Given the description of an element on the screen output the (x, y) to click on. 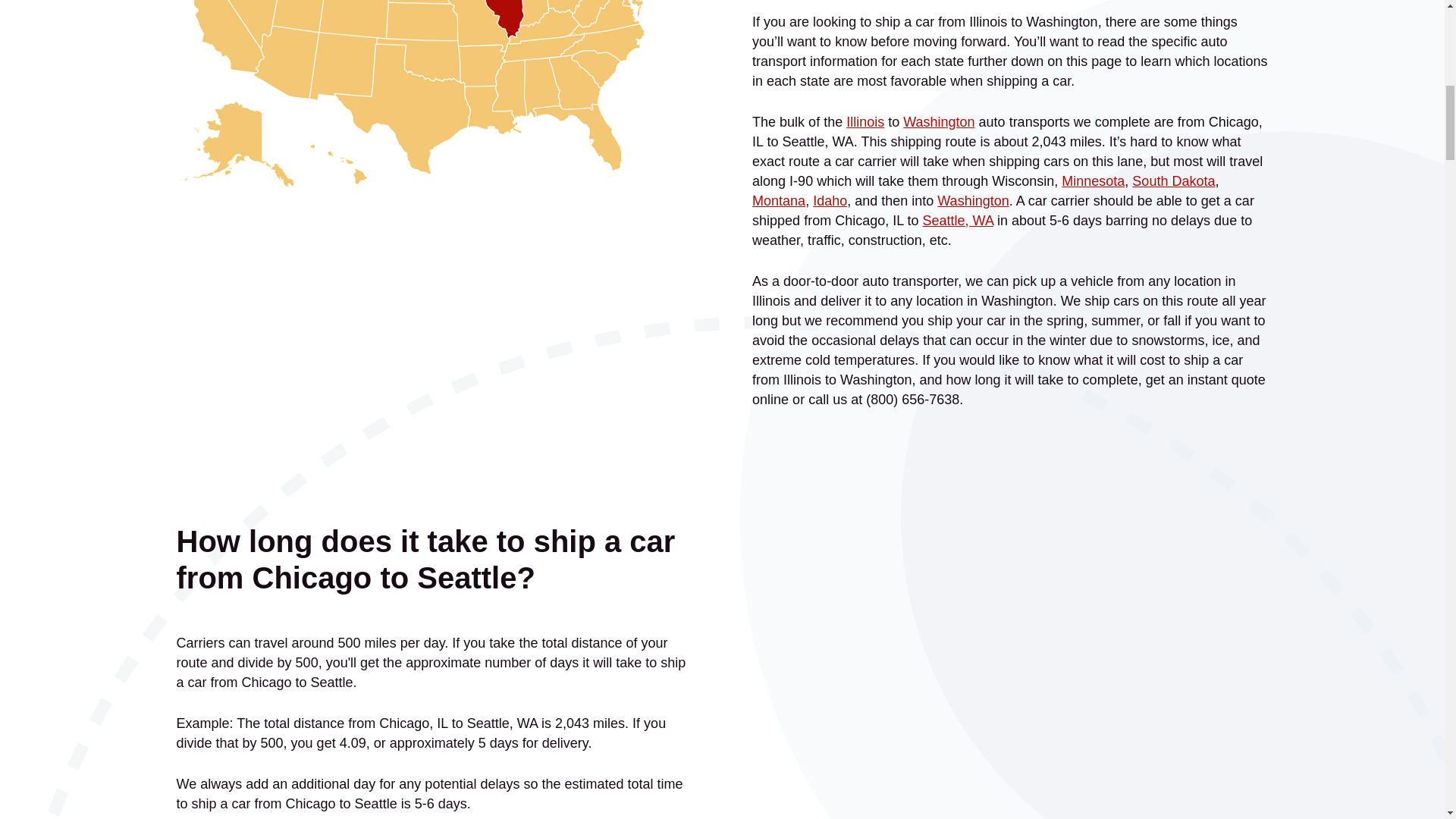
South Dakota (1173, 181)
Washington (938, 121)
Washington (973, 200)
Idaho (829, 200)
illinois-to-washington-car-shipping (433, 94)
Illinois (864, 121)
Seattle, WA (957, 220)
Montana (778, 200)
Minnesota (1092, 181)
